Given the description of an element on the screen output the (x, y) to click on. 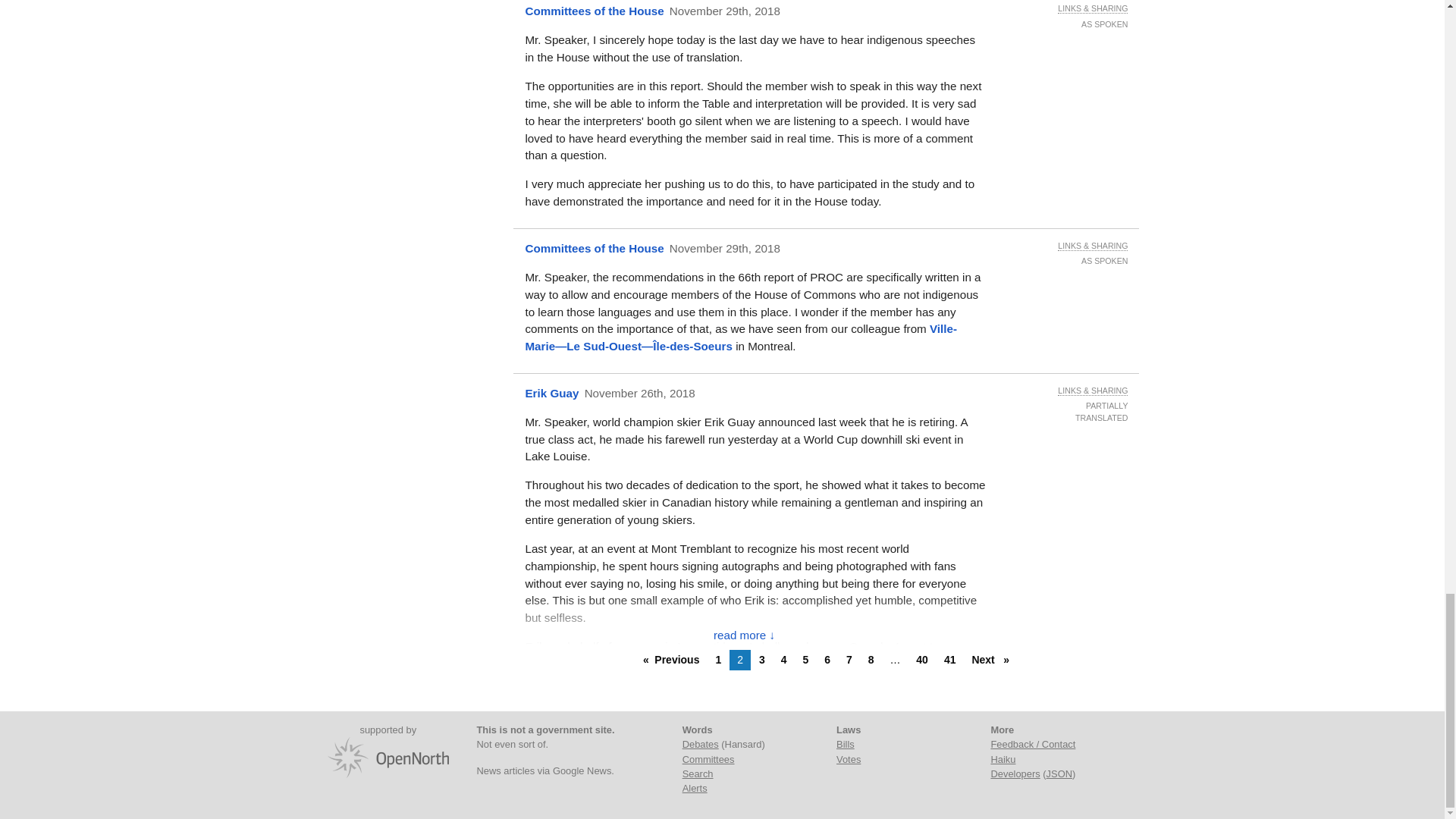
Marc Miller (740, 337)
Committees of the House (593, 10)
Committees of the House (593, 247)
